Given the description of an element on the screen output the (x, y) to click on. 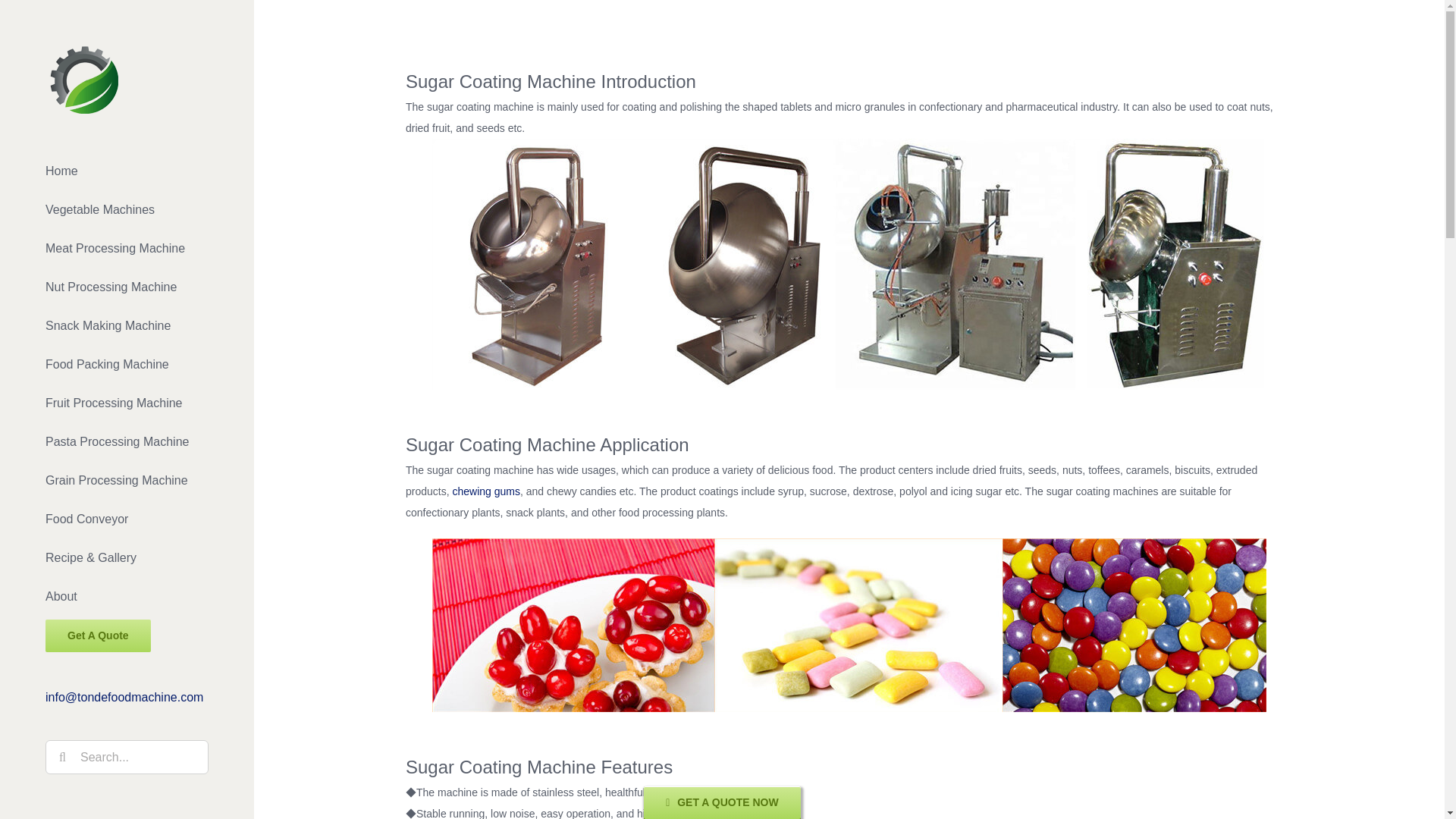
Vegetable Machines (126, 210)
Home (126, 170)
Get A Quote (126, 635)
About (126, 597)
Meat Processing Machine (126, 249)
Food Conveyor (126, 519)
Grain Processing Machine (126, 480)
Nut Processing Machine (126, 287)
Fruit Processing Machine (126, 403)
Food Packing Machine (126, 364)
Pasta Processing Machine (126, 442)
Snack Making Machine (126, 326)
